Given the description of an element on the screen output the (x, y) to click on. 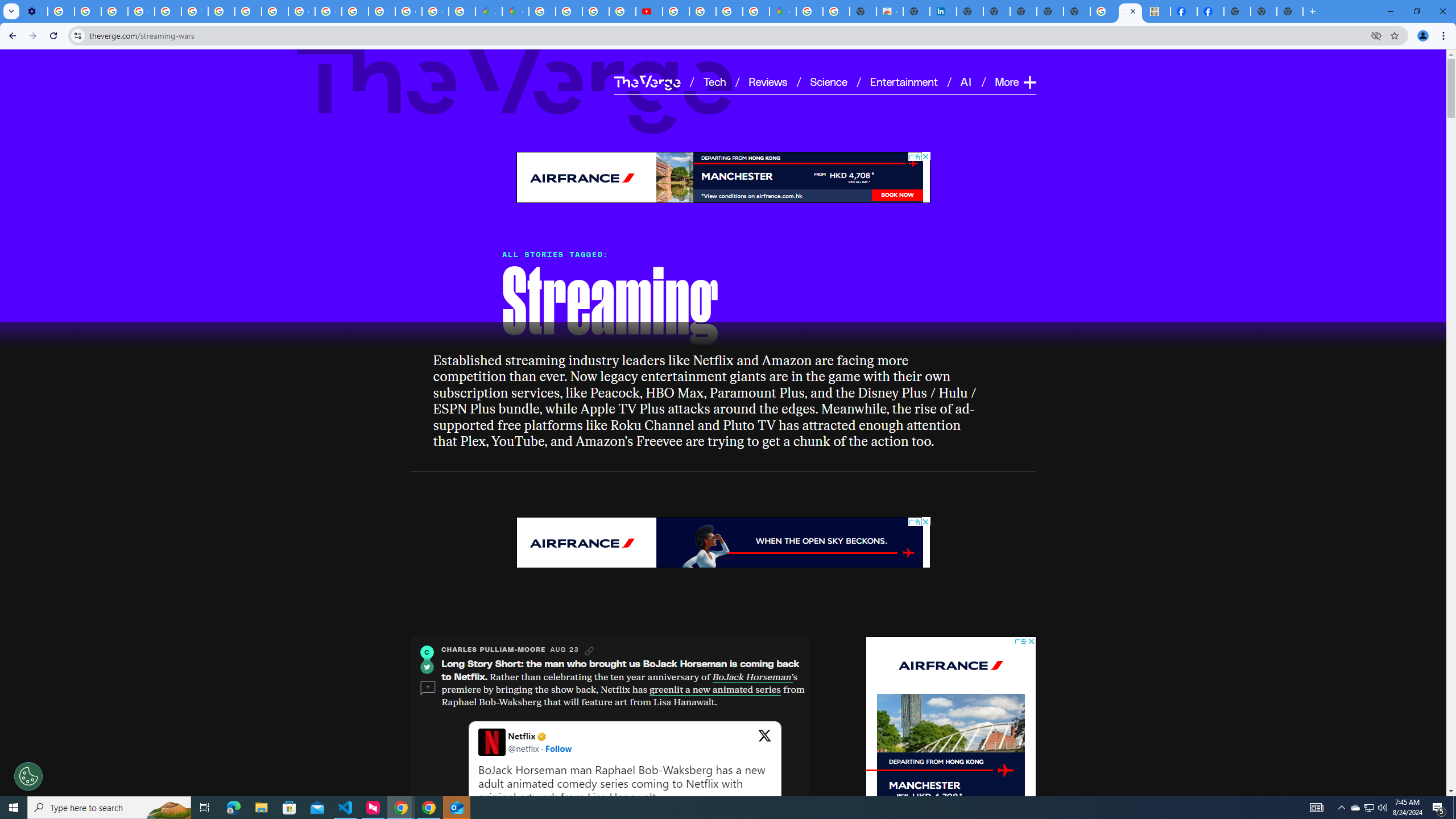
Link (589, 651)
Entertainment (904, 81)
Privacy Help Center - Policies Help (248, 11)
AI (966, 81)
Blogger Policies and Guidelines - Transparency Center (542, 11)
AutomationID: cbb (1030, 641)
Twitter (426, 667)
